Given the description of an element on the screen output the (x, y) to click on. 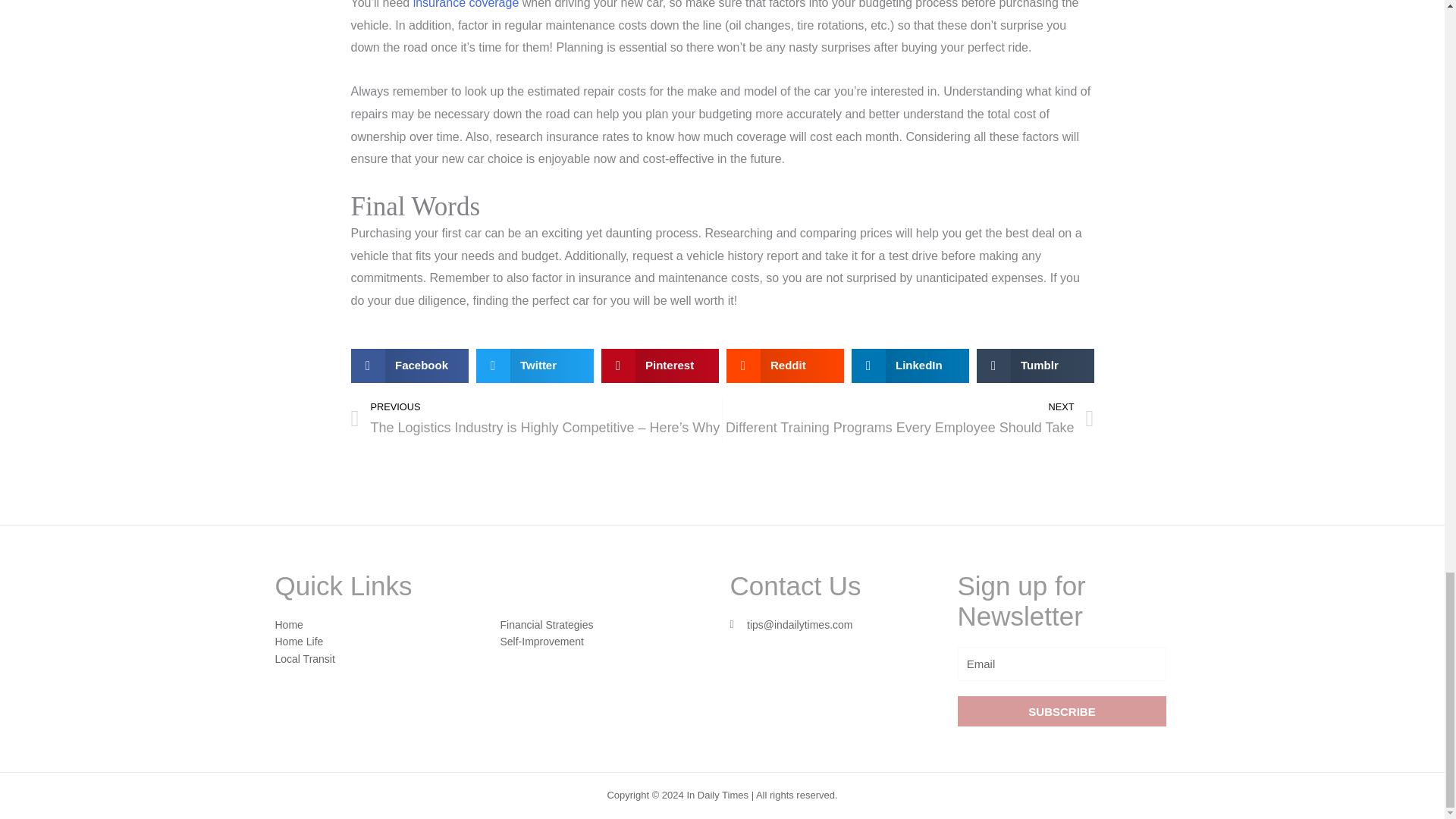
Financial Strategies (547, 624)
insurance coverage (466, 4)
Self-Improvement (541, 641)
SUBSCRIBE (1061, 711)
Local Transit (304, 658)
Home Life (299, 641)
Home (288, 624)
